Given the description of an element on the screen output the (x, y) to click on. 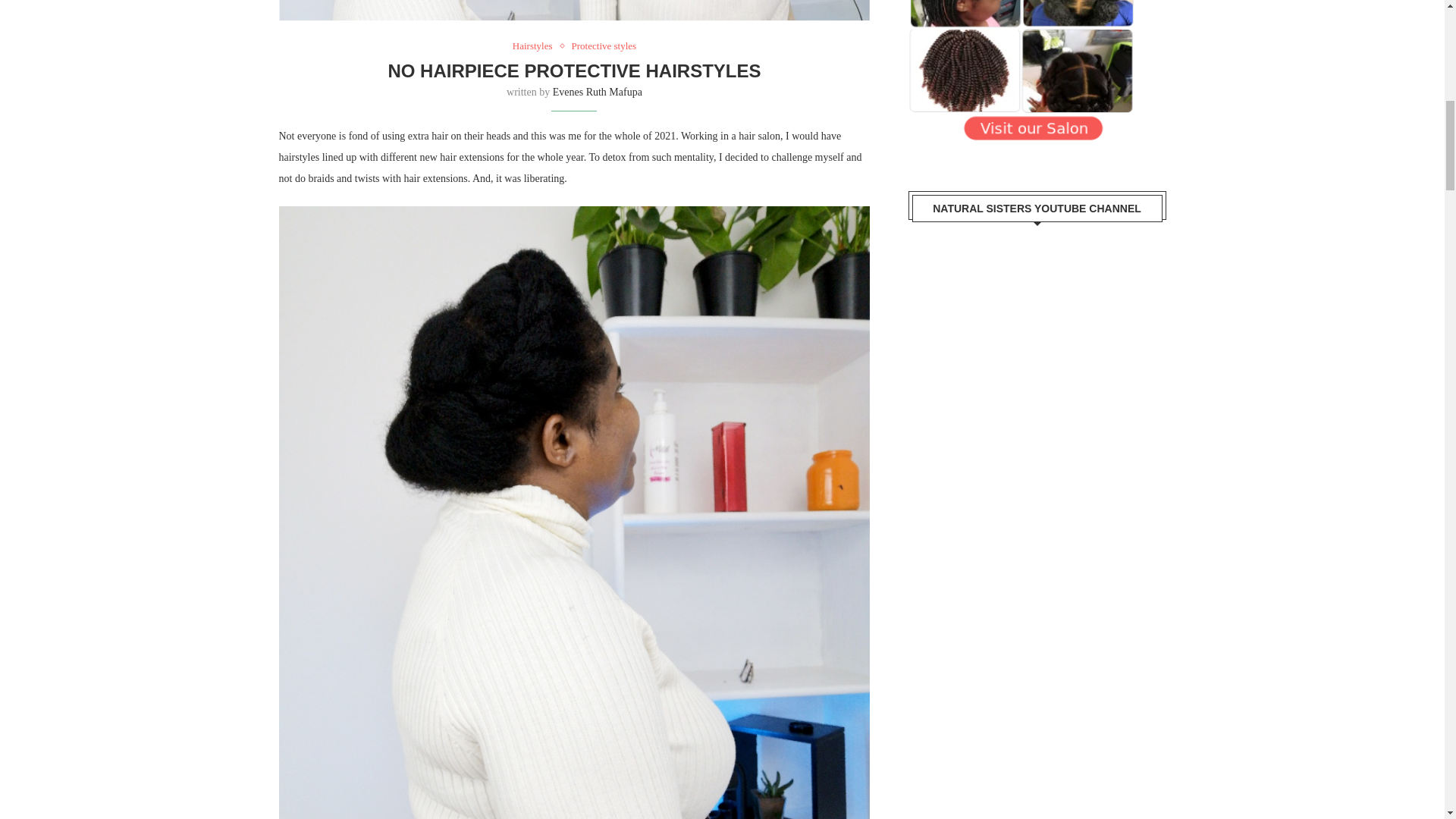
Simple protectve Hairstyle2 (574, 10)
